Given the description of an element on the screen output the (x, y) to click on. 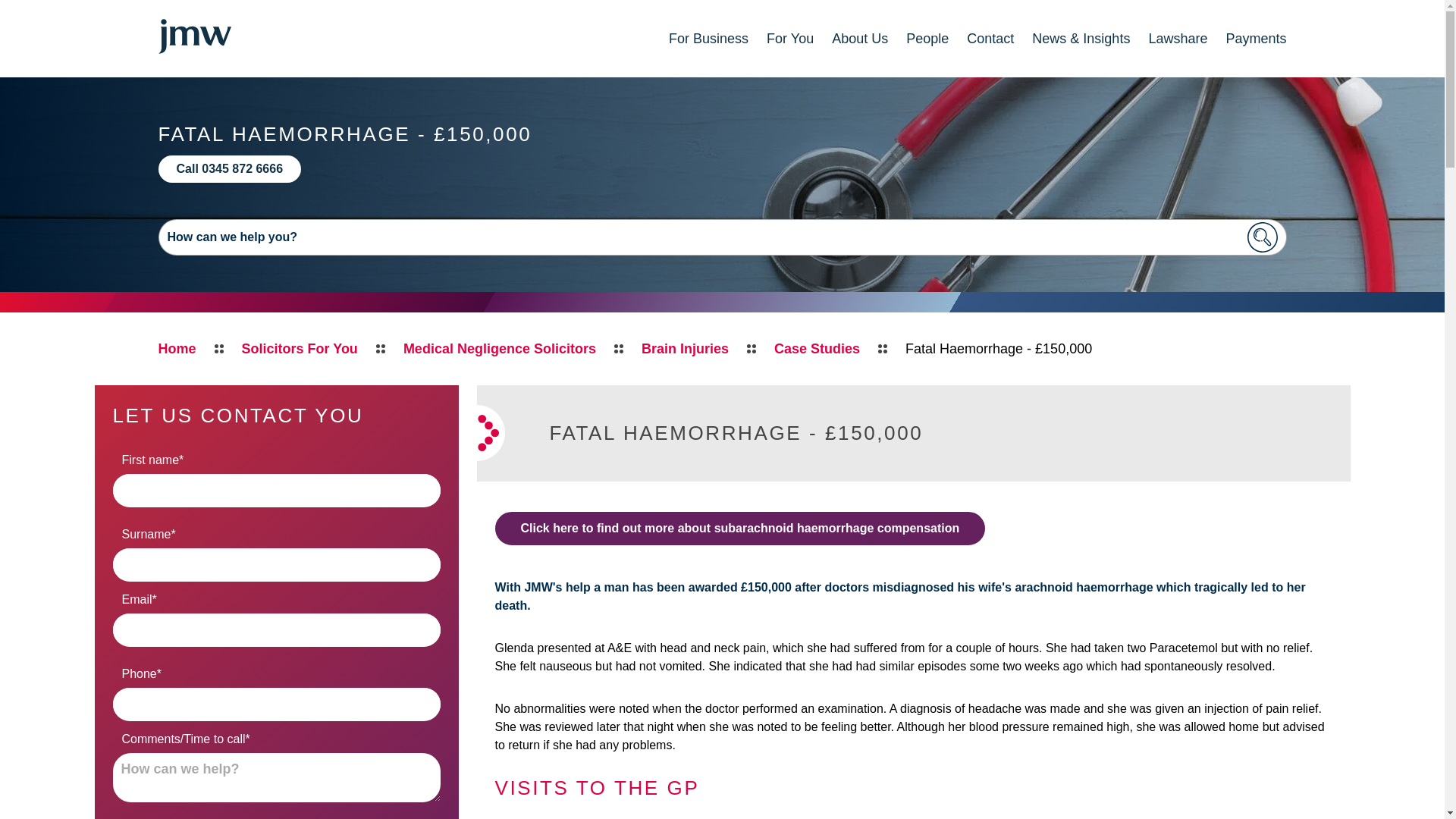
Payments (1255, 38)
For You (790, 38)
Contact (989, 38)
Brain Injuries (685, 348)
Solicitors For You (299, 348)
Medical Negligence Solicitors (499, 348)
People (927, 38)
For Business (708, 38)
About Us (859, 38)
